Given the description of an element on the screen output the (x, y) to click on. 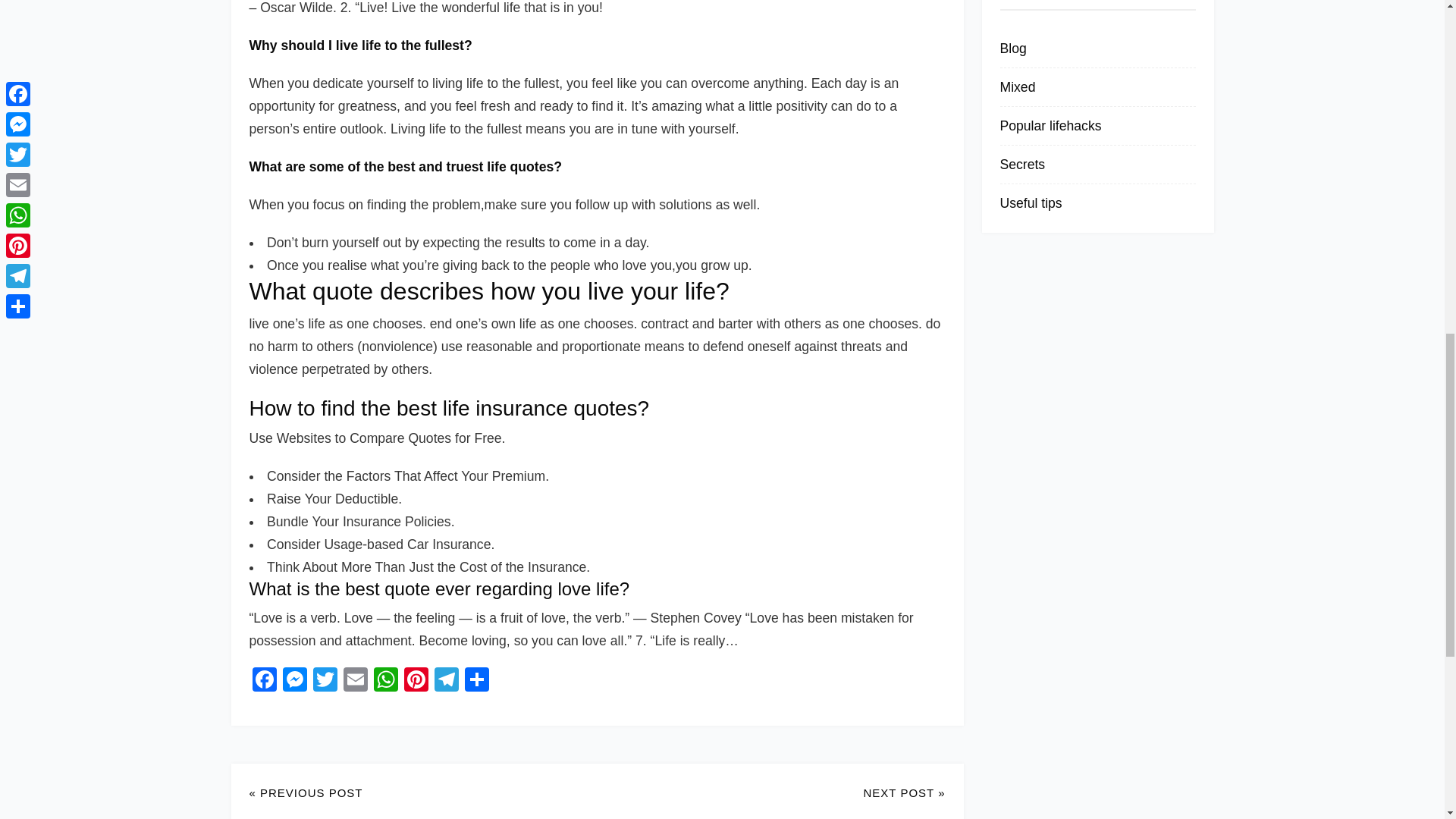
Pinterest (415, 681)
Email (354, 681)
Twitter (323, 681)
Messenger (293, 681)
Telegram (445, 681)
WhatsApp (384, 681)
Twitter (323, 681)
Telegram (445, 681)
Facebook (263, 681)
Pinterest (415, 681)
